Given the description of an element on the screen output the (x, y) to click on. 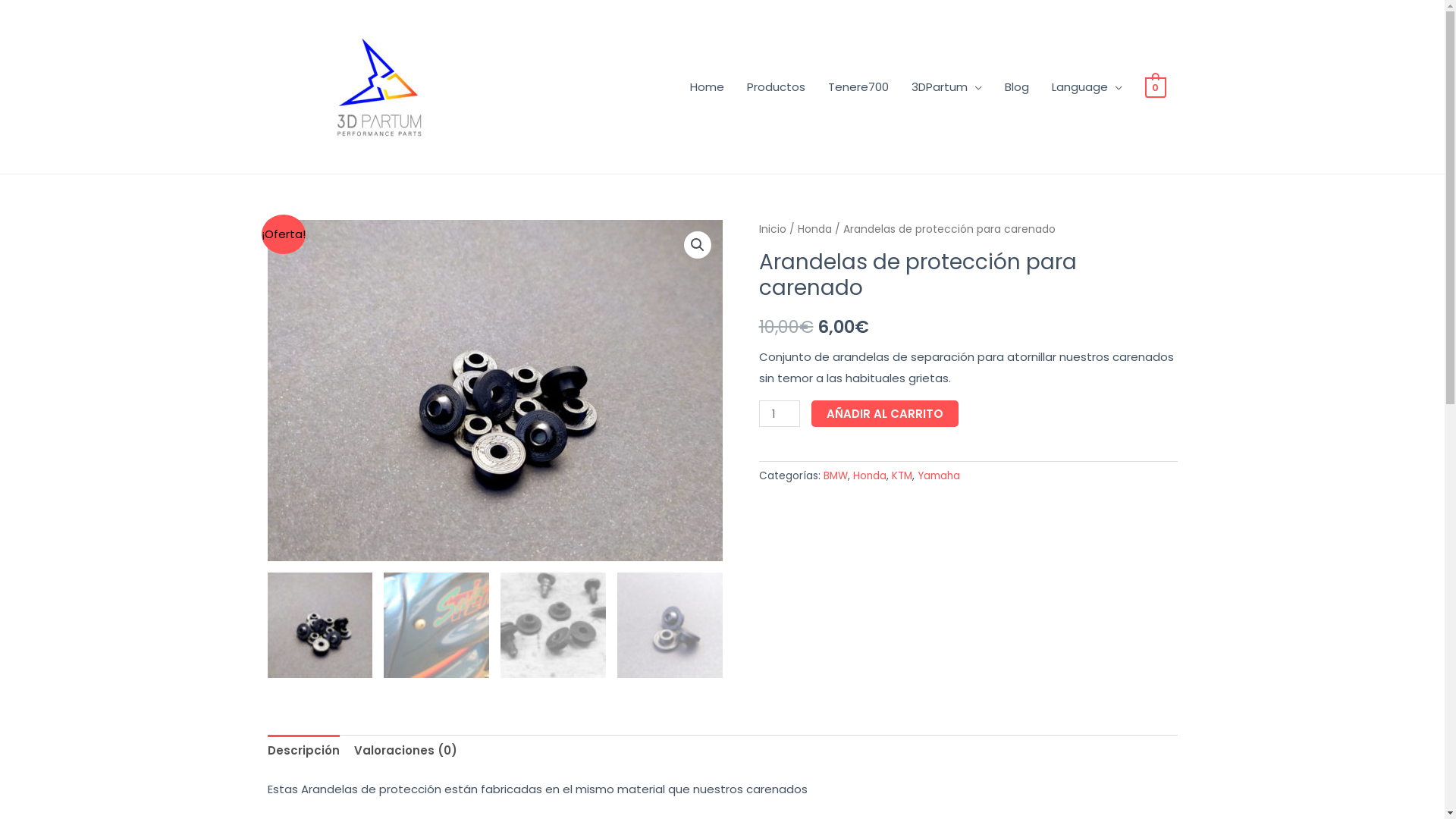
0 Element type: text (1155, 86)
Yamaha Element type: text (938, 475)
BMW Element type: text (835, 475)
Honda Element type: text (814, 229)
Blog Element type: text (1016, 86)
Honda Element type: text (868, 475)
3DPartum Element type: text (946, 86)
Language Element type: text (1086, 86)
arandelas Element type: hover (493, 390)
KTM Element type: text (901, 475)
Tenere700 Element type: text (858, 86)
Productos Element type: text (775, 86)
Inicio Element type: text (771, 229)
Valoraciones (0) Element type: text (404, 750)
Home Element type: text (706, 86)
